Given the description of an element on the screen output the (x, y) to click on. 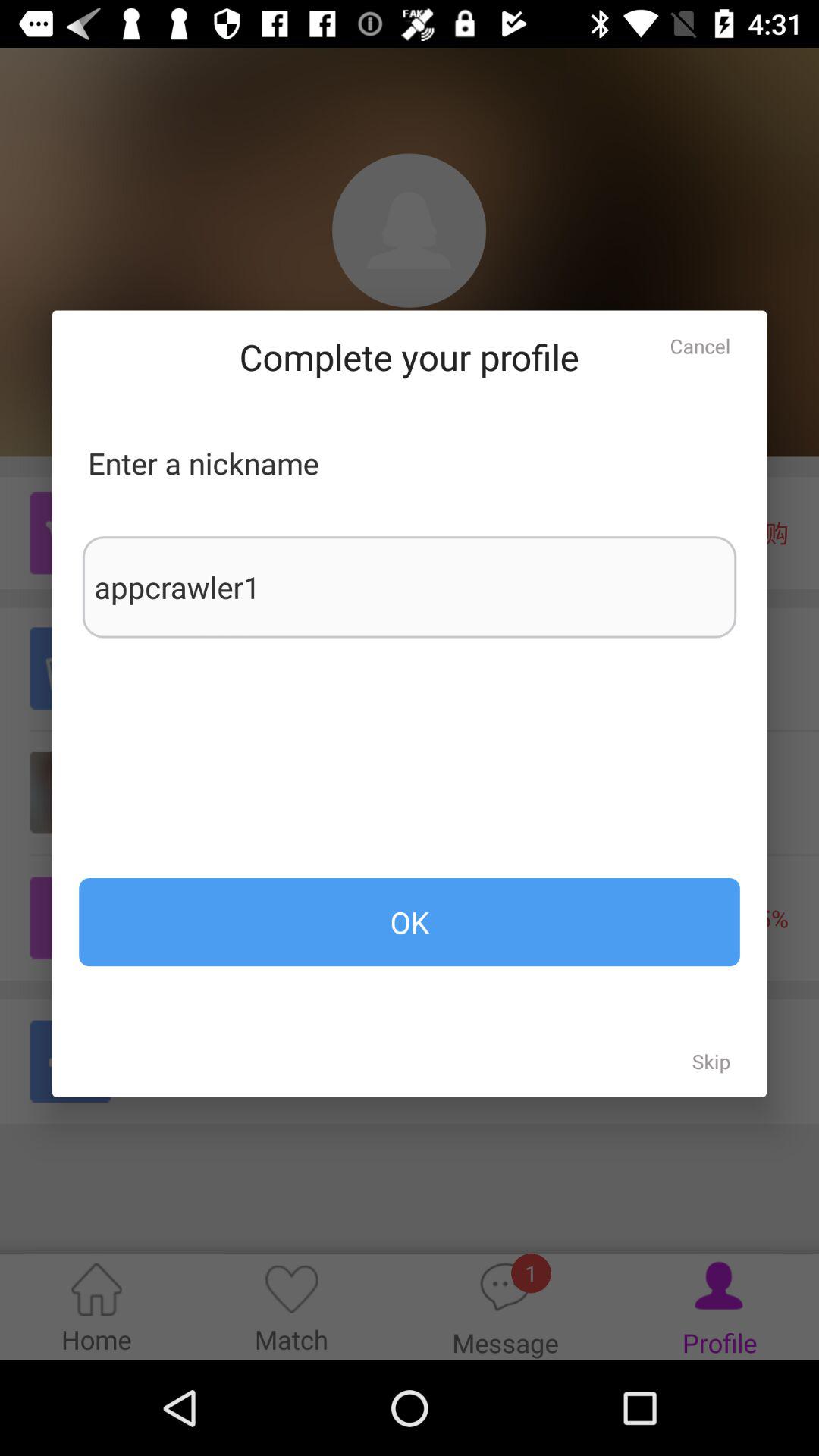
turn on item below ok (711, 1061)
